Given the description of an element on the screen output the (x, y) to click on. 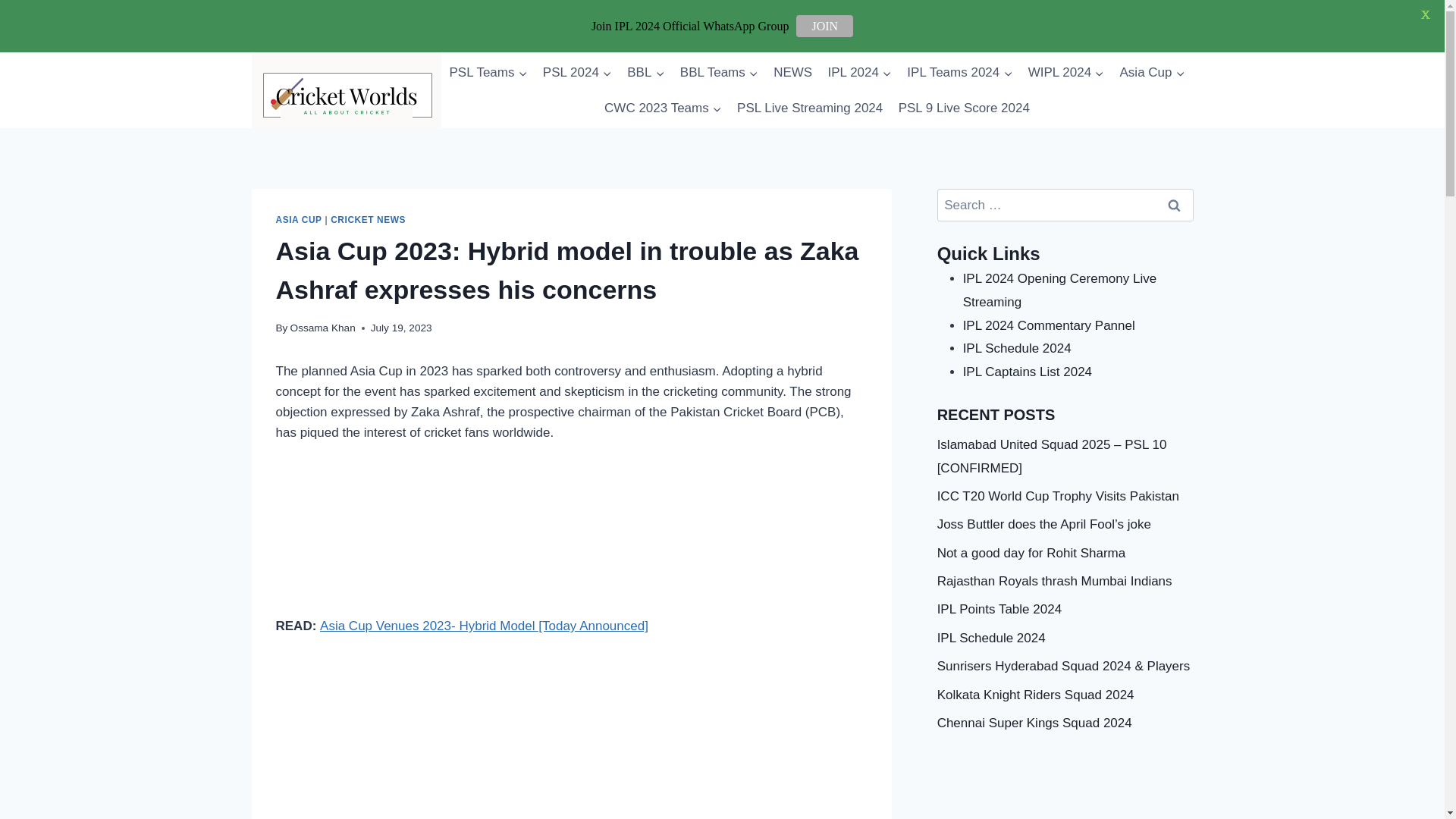
IPL Teams 2024 (959, 72)
IPL 2024 (859, 72)
PSL 2024 (577, 72)
BBL Teams (718, 72)
Search (1174, 205)
PSL Teams (487, 72)
Advertisement (571, 540)
NEWS (792, 72)
Advertisement (571, 739)
Search (1174, 205)
BBL (646, 72)
